Given the description of an element on the screen output the (x, y) to click on. 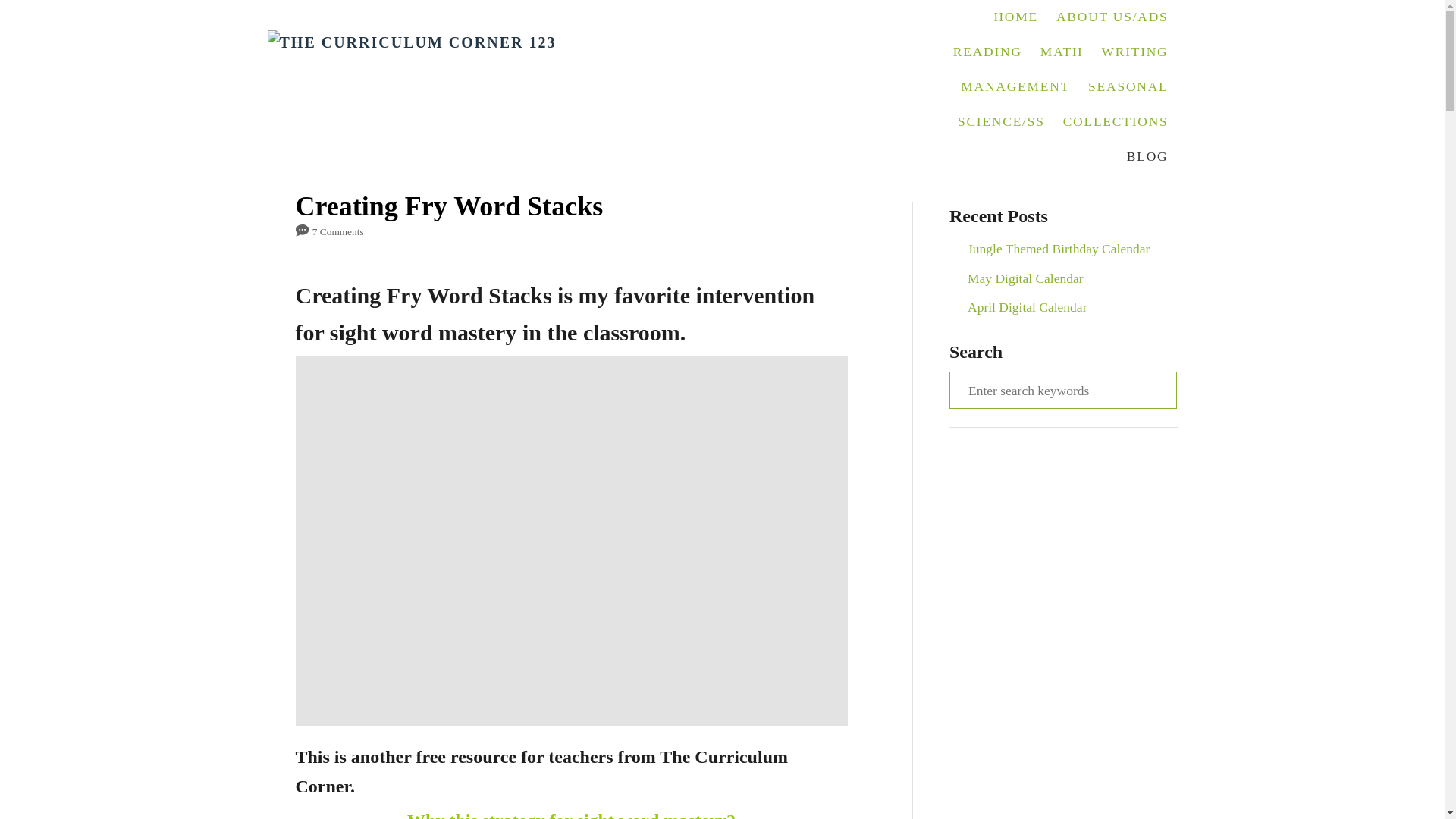
HOME (1015, 17)
MANAGEMENT (1015, 86)
Search for: (1062, 389)
WRITING (1134, 52)
READING (986, 52)
The Curriculum Corner 123 (580, 87)
MATH (1061, 52)
SEASONAL (1127, 86)
